Given the description of an element on the screen output the (x, y) to click on. 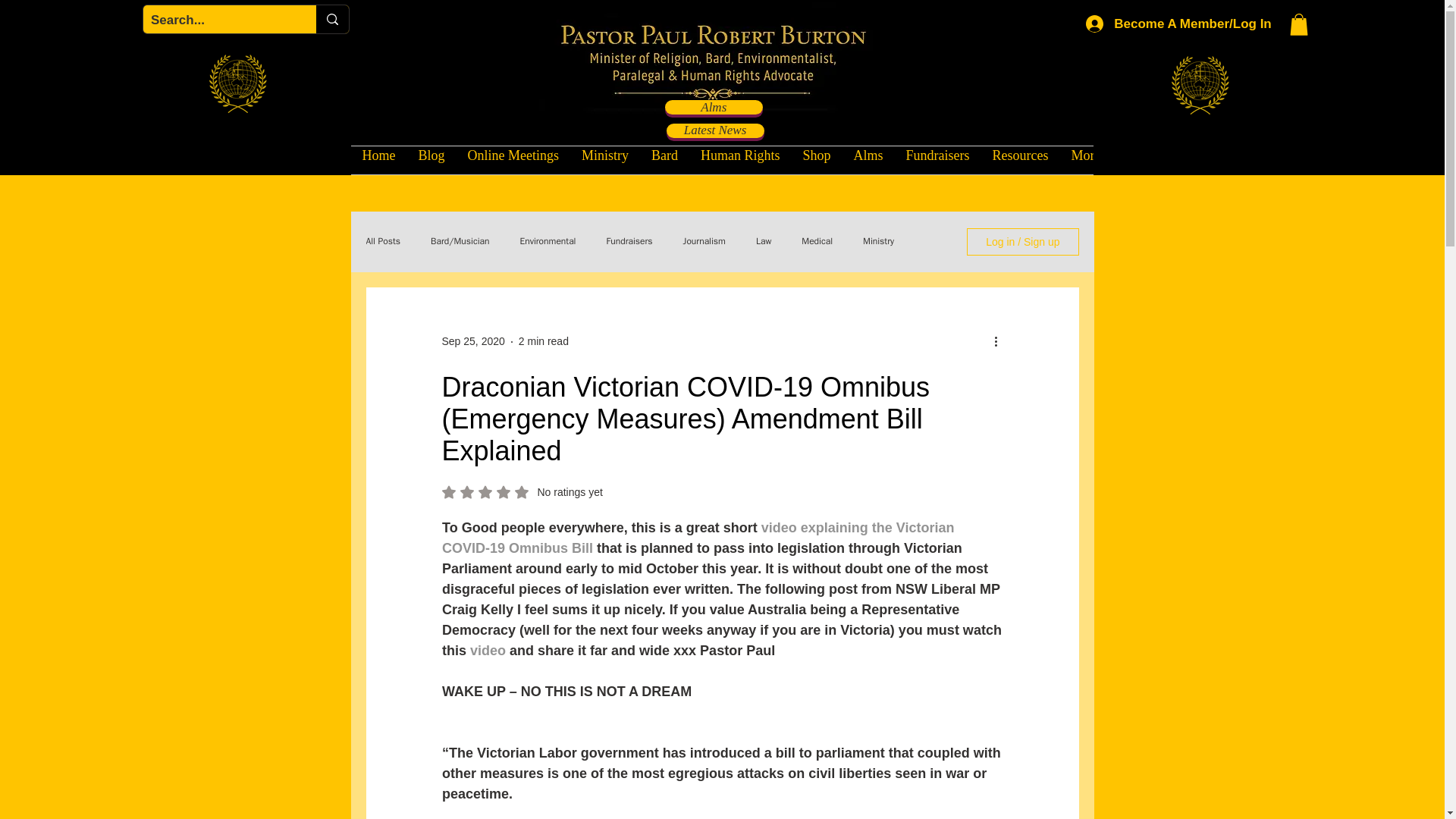
2 min read (543, 340)
Alms (713, 106)
Latest News (713, 130)
Blog (430, 160)
Sep 25, 2020 (472, 340)
Home (378, 160)
